Given the description of an element on the screen output the (x, y) to click on. 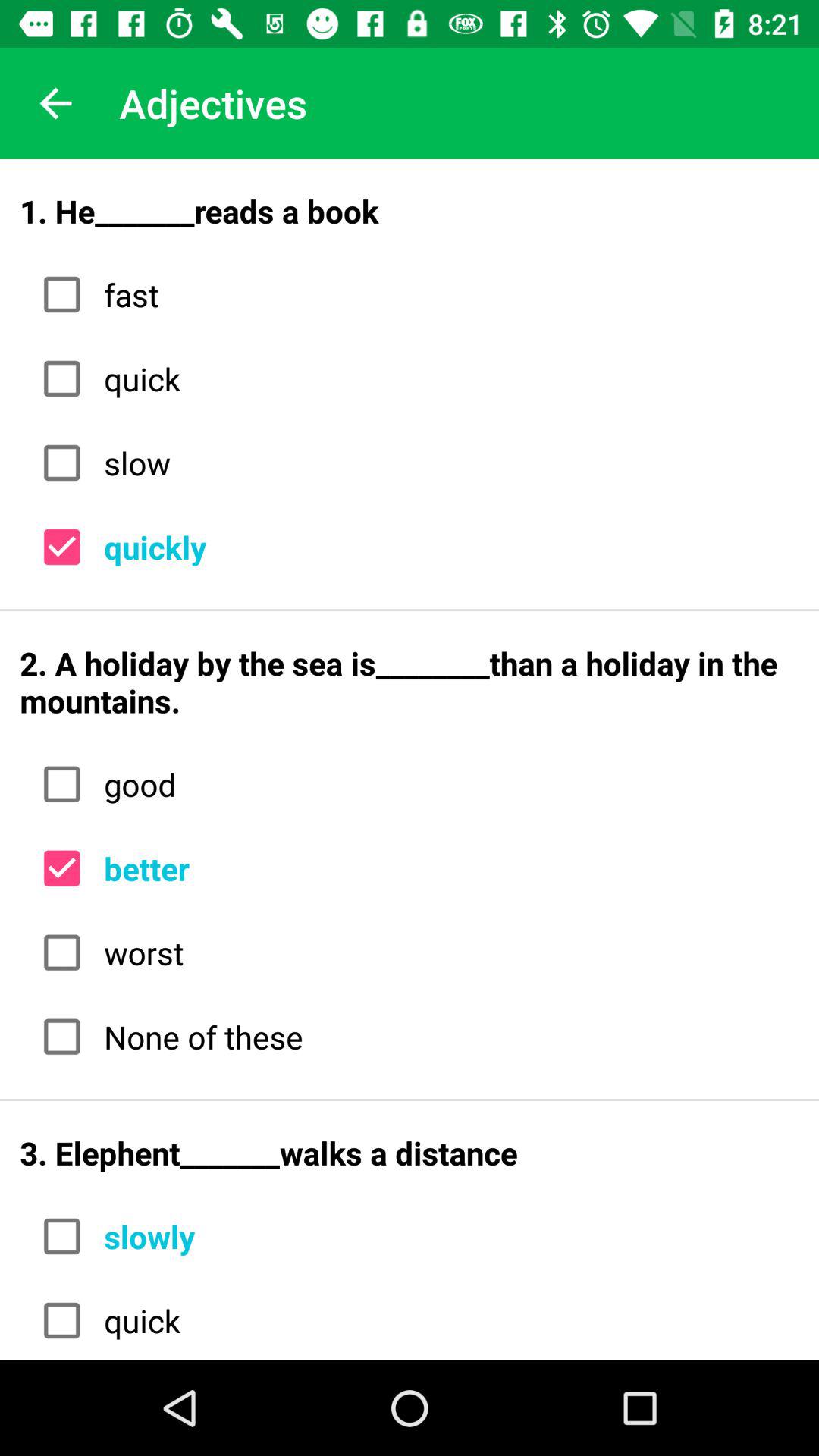
turn off 3 elephent_______walks a icon (409, 1152)
